Given the description of an element on the screen output the (x, y) to click on. 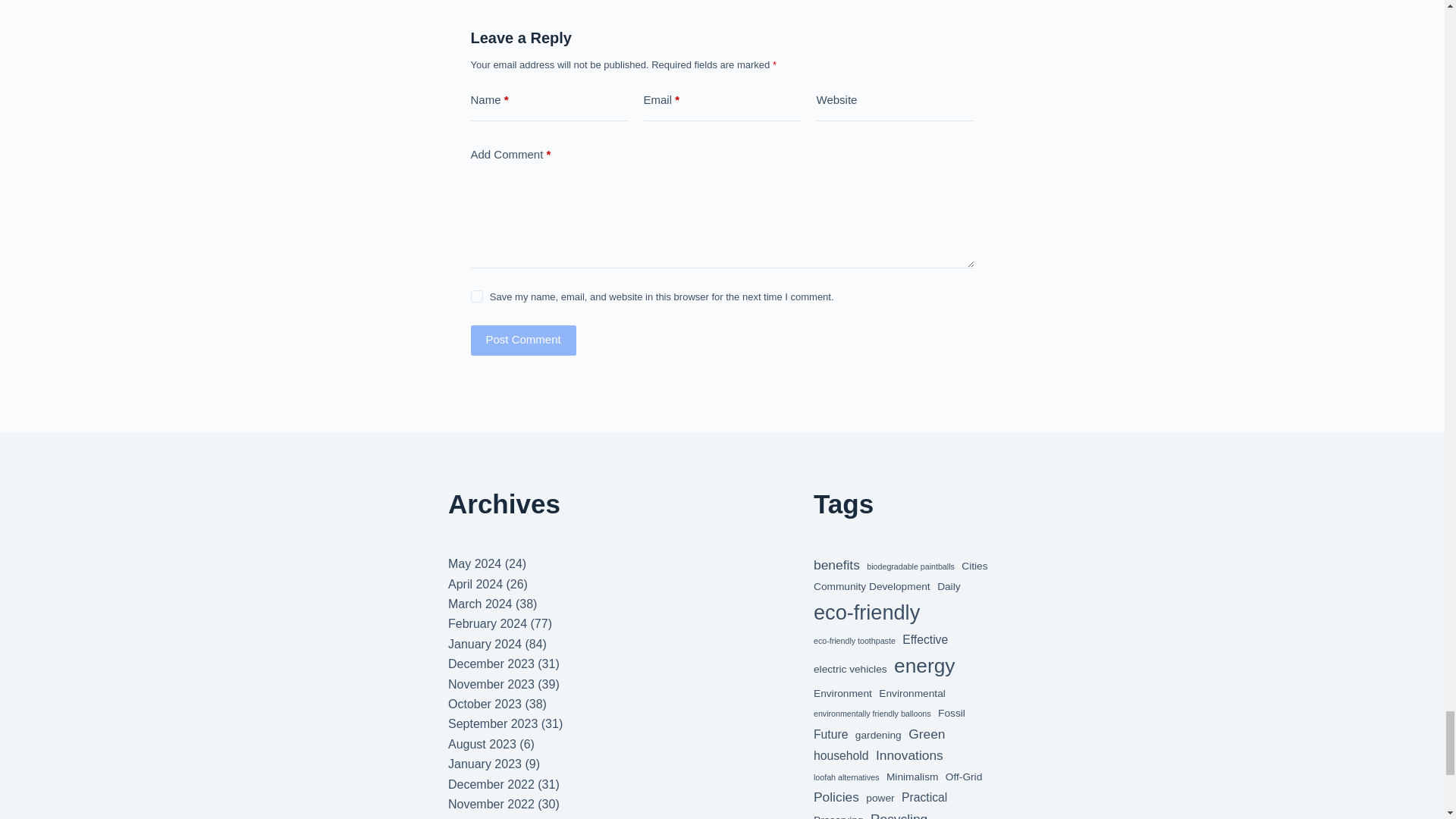
yes (475, 296)
